Given the description of an element on the screen output the (x, y) to click on. 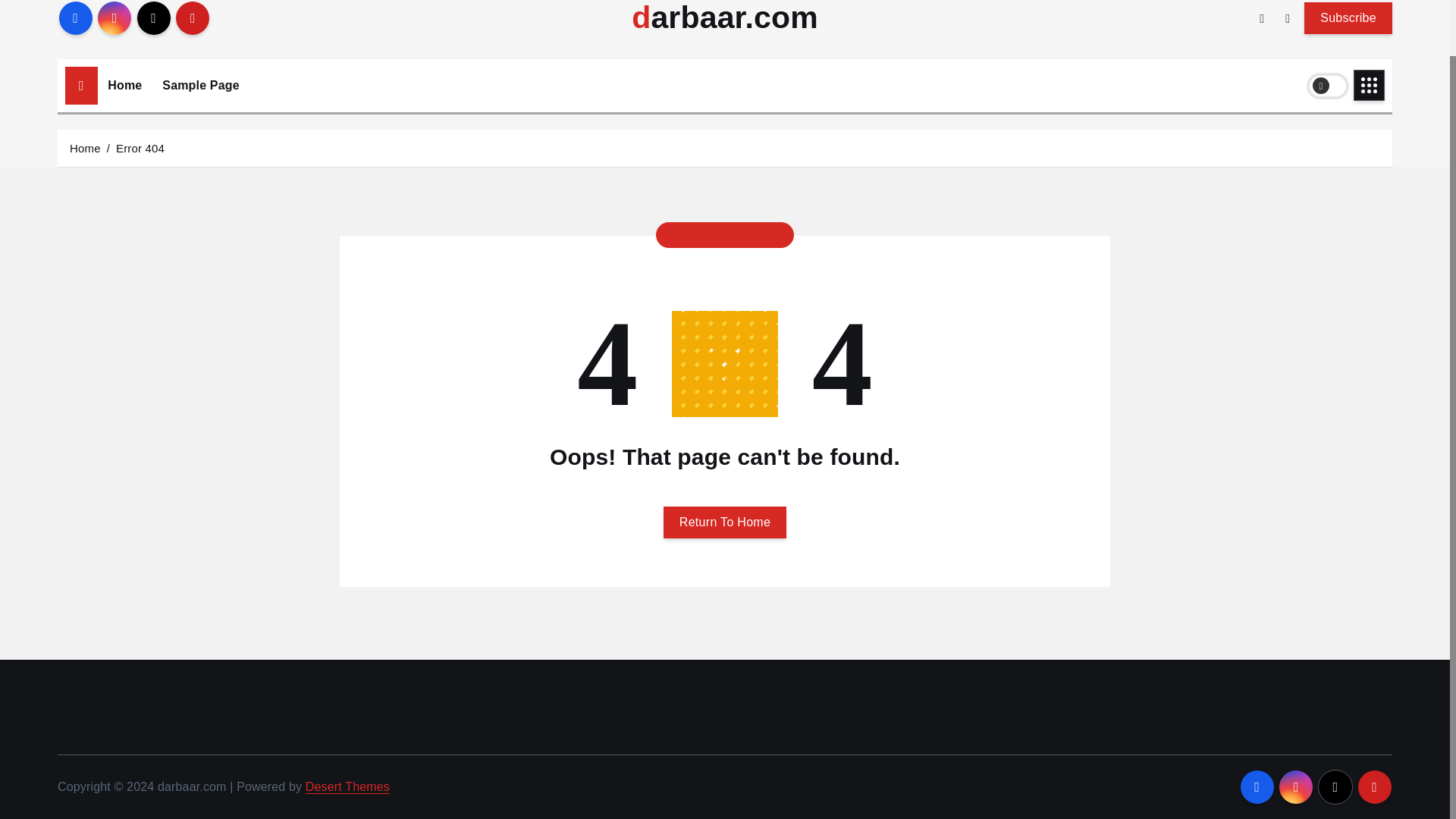
Home (124, 85)
Sample Page (200, 85)
darbaar.com (724, 17)
Return To Home (724, 522)
Home (124, 85)
Home (84, 146)
Subscribe (1347, 17)
Desert Themes (347, 786)
Error 404 (140, 146)
